Given the description of an element on the screen output the (x, y) to click on. 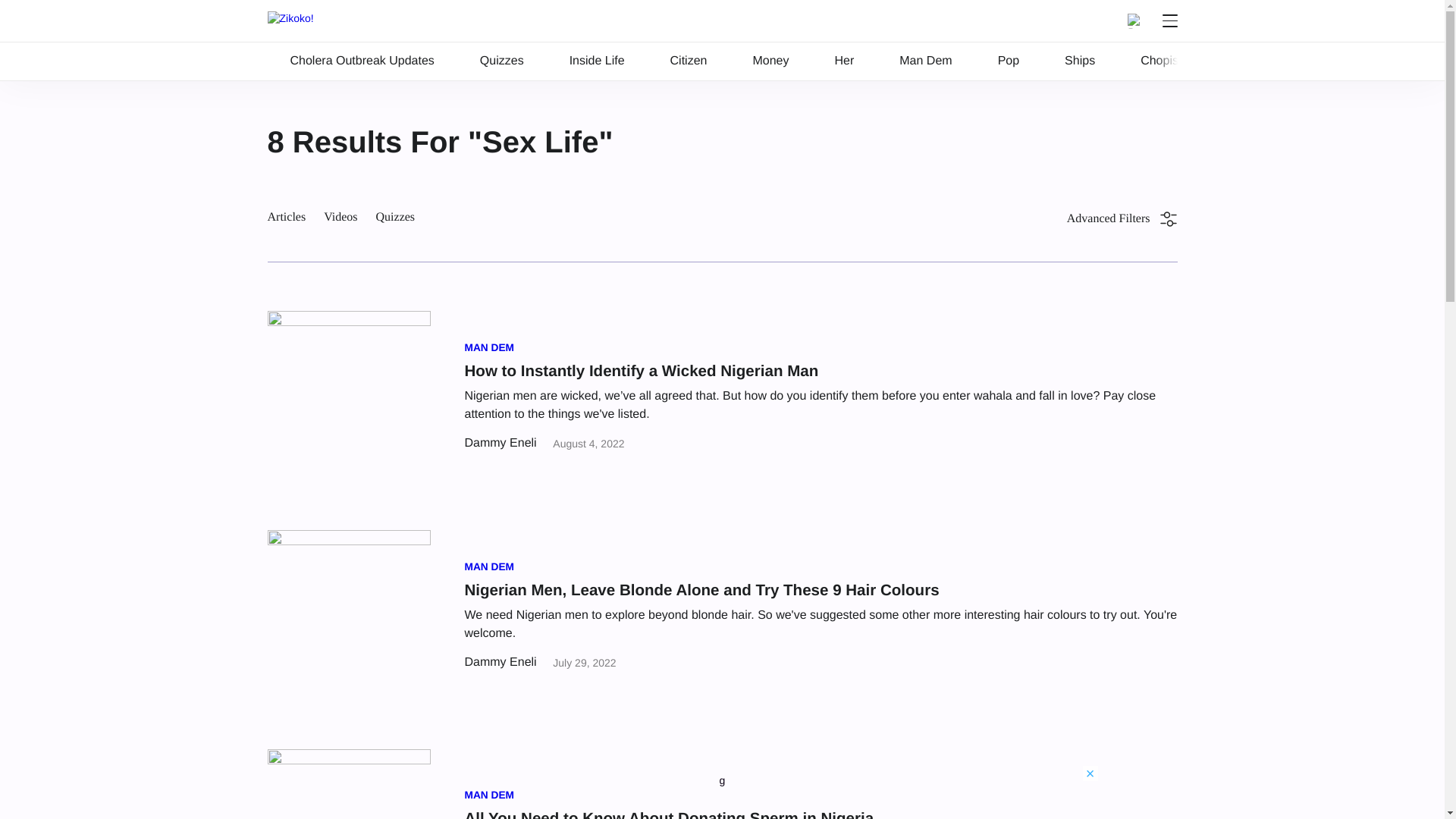
Pop (1008, 61)
Her (843, 61)
Posts by Dammy Eneli (499, 662)
Ships (1080, 61)
Quizzes (502, 61)
Man Dem (925, 61)
Money (769, 61)
Chopist (1161, 61)
Aluta and Chill (1265, 61)
Cholera Outbreak Updates (361, 61)
